Given the description of an element on the screen output the (x, y) to click on. 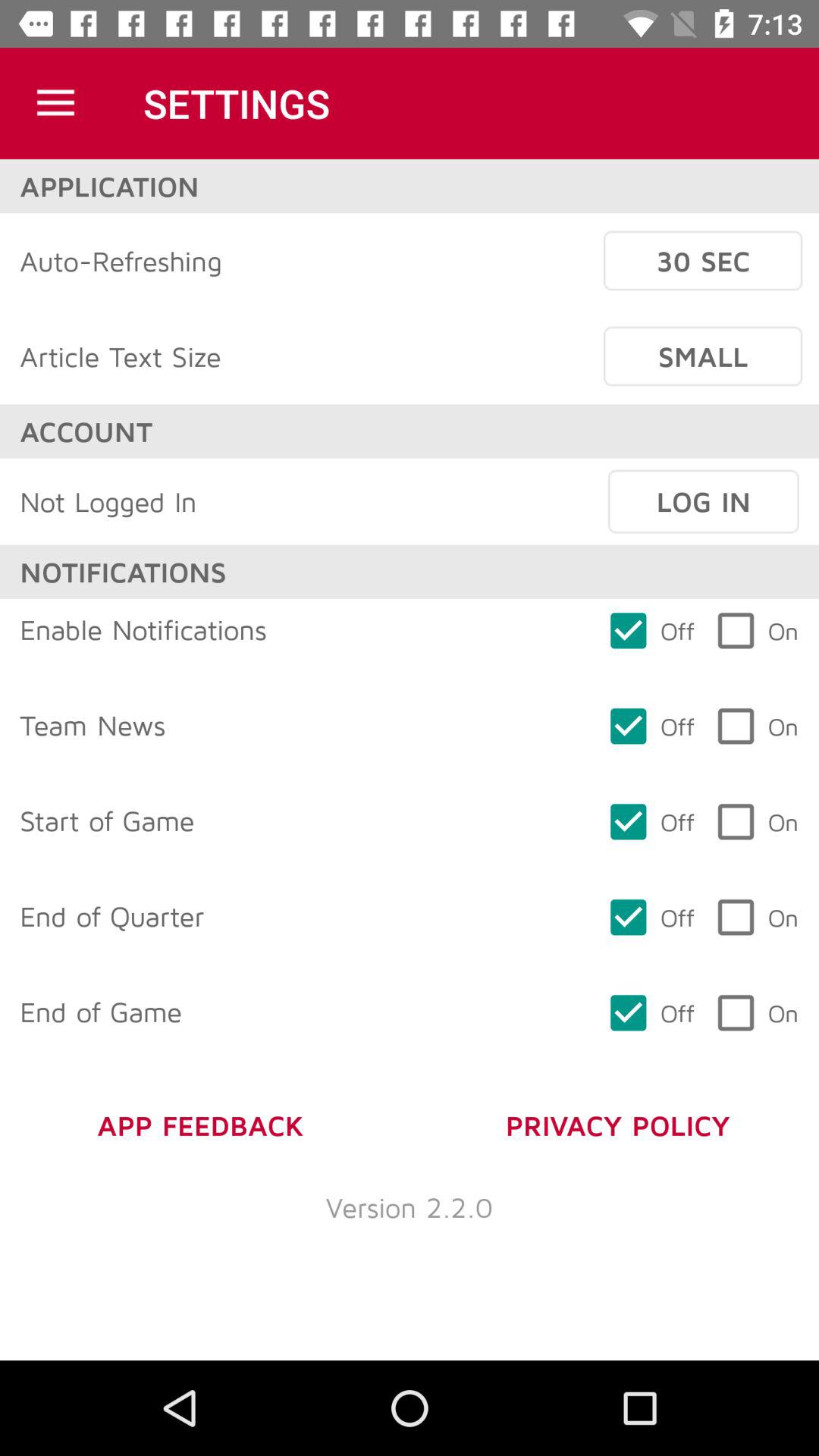
select the item above application (55, 103)
